Given the description of an element on the screen output the (x, y) to click on. 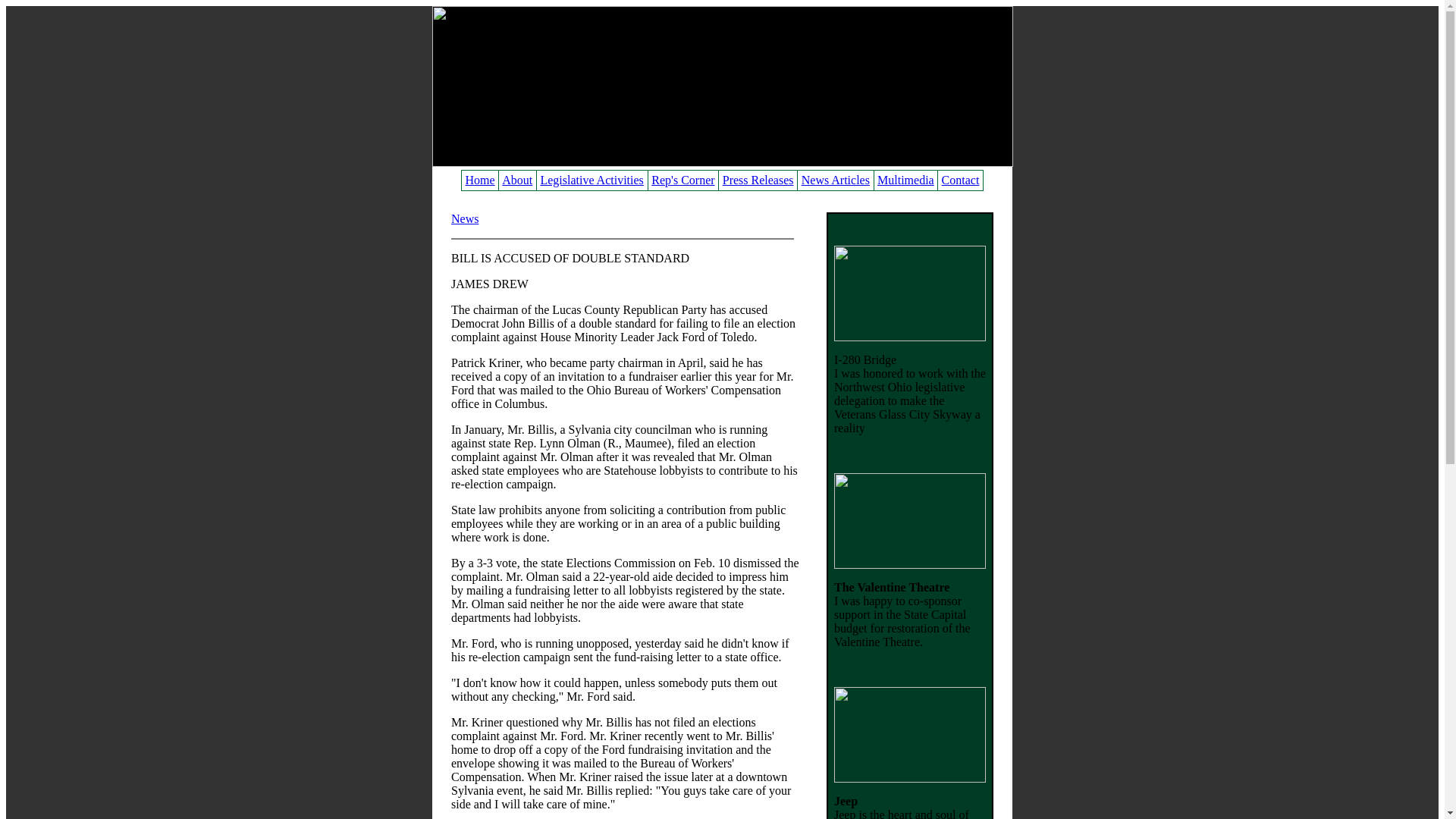
News Articles (835, 178)
Multimedia (905, 178)
Home (480, 178)
Legislative Activities (591, 178)
News (465, 218)
About (517, 178)
Rep's Corner (682, 178)
Press Releases (757, 178)
Contact (960, 178)
